Given the description of an element on the screen output the (x, y) to click on. 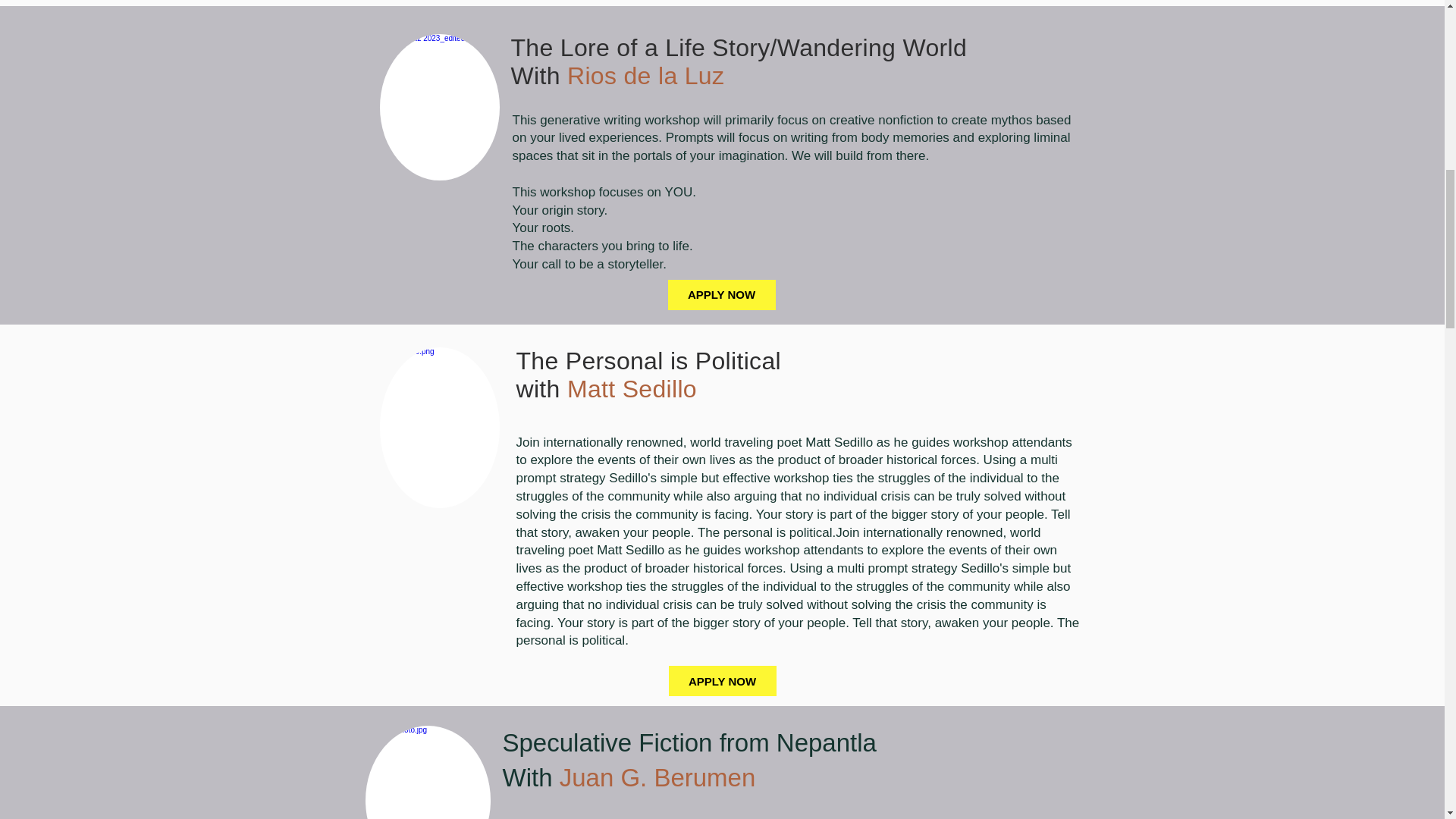
APPLY NOW (722, 680)
Rios de la Luz (689, 759)
APPLY NOW (651, 374)
